Given the description of an element on the screen output the (x, y) to click on. 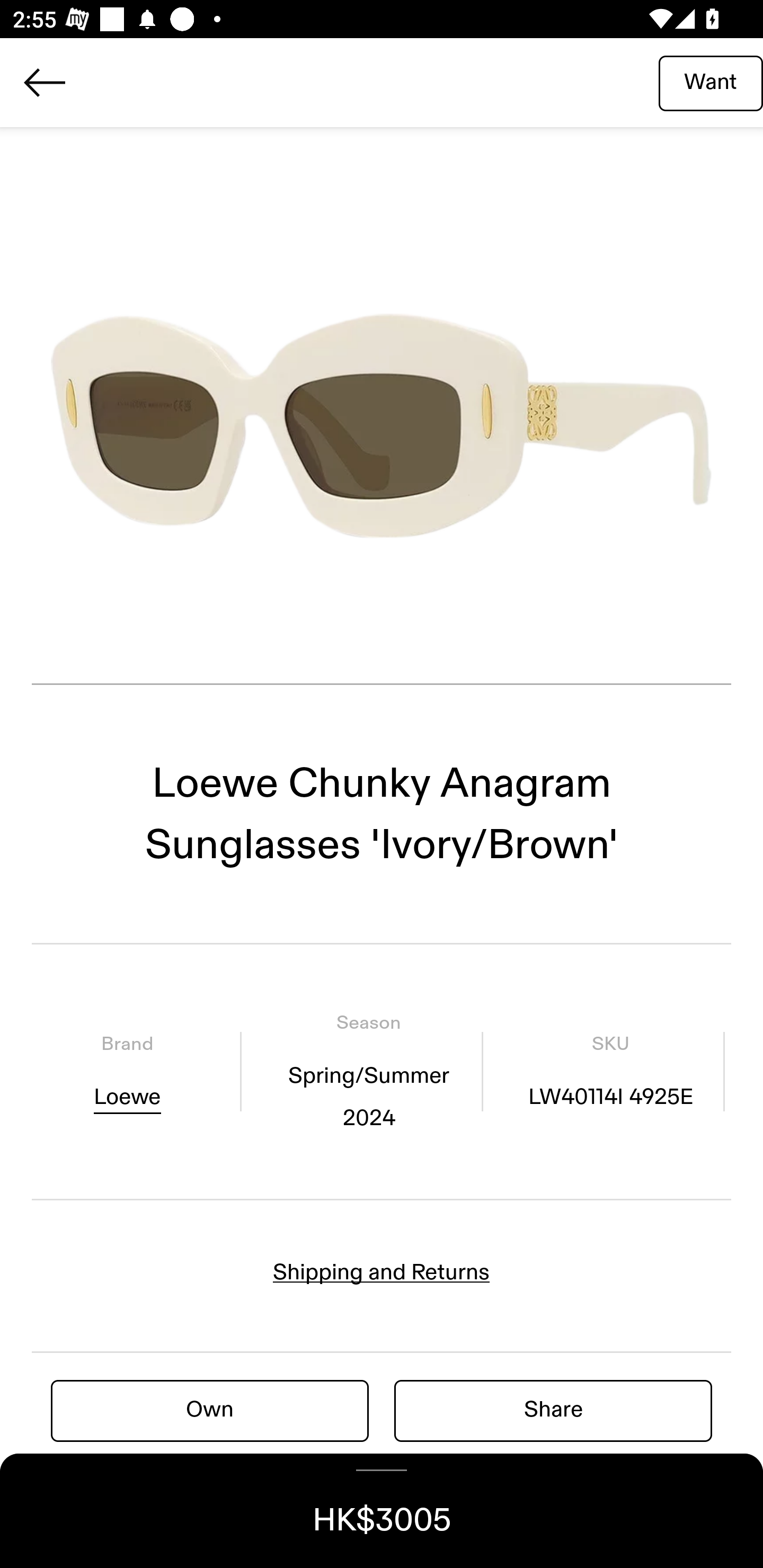
Want (710, 82)
Brand Loewe (126, 1070)
Season Spring/Summer 2024 (368, 1070)
SKU LW40114I 4925E (609, 1070)
Shipping and Returns (381, 1272)
Own (209, 1410)
Share (552, 1410)
HK$3005 (381, 1510)
